Given the description of an element on the screen output the (x, y) to click on. 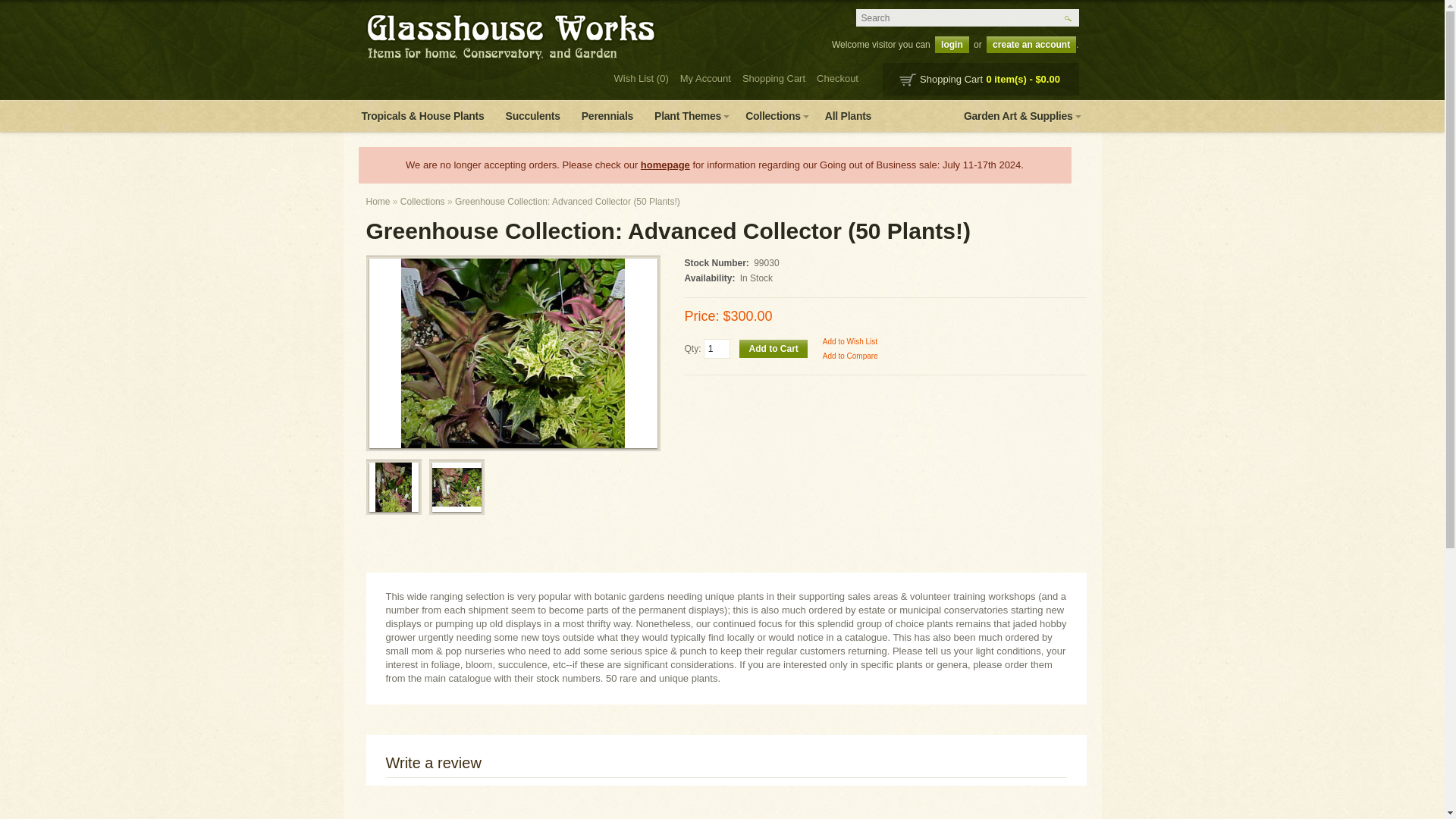
Collections (774, 115)
Shopping Cart (770, 78)
1 (716, 348)
Perennials (606, 115)
Glasshouse Works (510, 36)
My Account (702, 78)
Succulents (532, 115)
create an account (1031, 44)
Plant Themes (689, 115)
Checkout (834, 78)
login (951, 44)
